Given the description of an element on the screen output the (x, y) to click on. 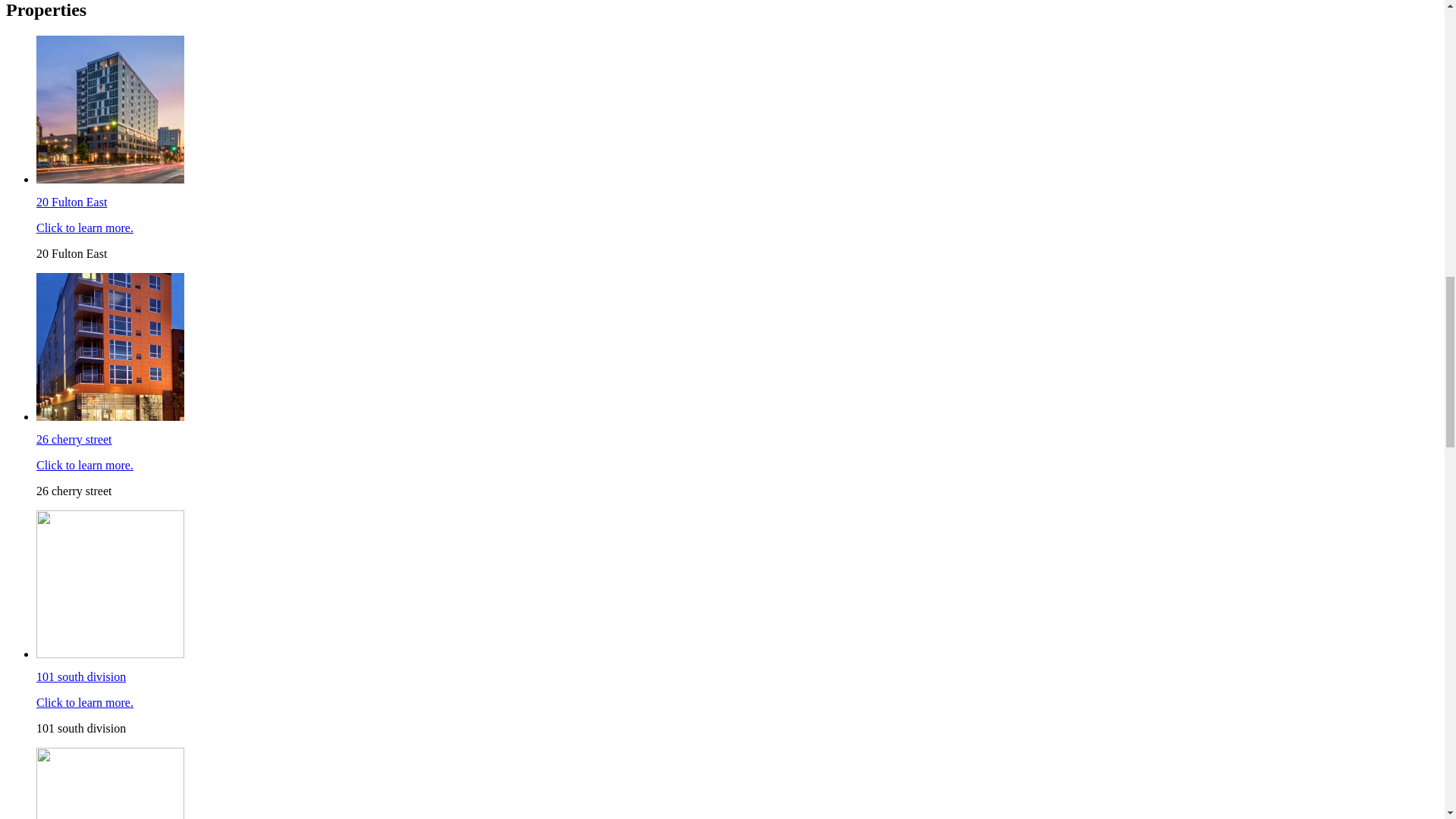
floor plans Element type: text (62, 307)
Properties Element type: text (60, 80)
market rate availability Element type: text (92, 361)
resident portal Element type: text (71, 348)
FAQ Element type: text (47, 121)
Resident Login Element type: text (73, 107)
next Element type: text (40, 401)
apply Element type: text (49, 320)
contact us Element type: text (60, 334)
Apply Element type: text (51, 148)
Home Element type: text (50, 66)
photo tour Element type: text (61, 293)
Contact Us Element type: text (63, 134)
Testimonials Element type: text (67, 93)
Live Downtown Grand Rapids Element type: text (164, 29)
Get Directions Element type: text (722, 199)
prev Element type: text (16, 401)
Learn more about Grand Rapids Element type: text (665, 751)
